Given the description of an element on the screen output the (x, y) to click on. 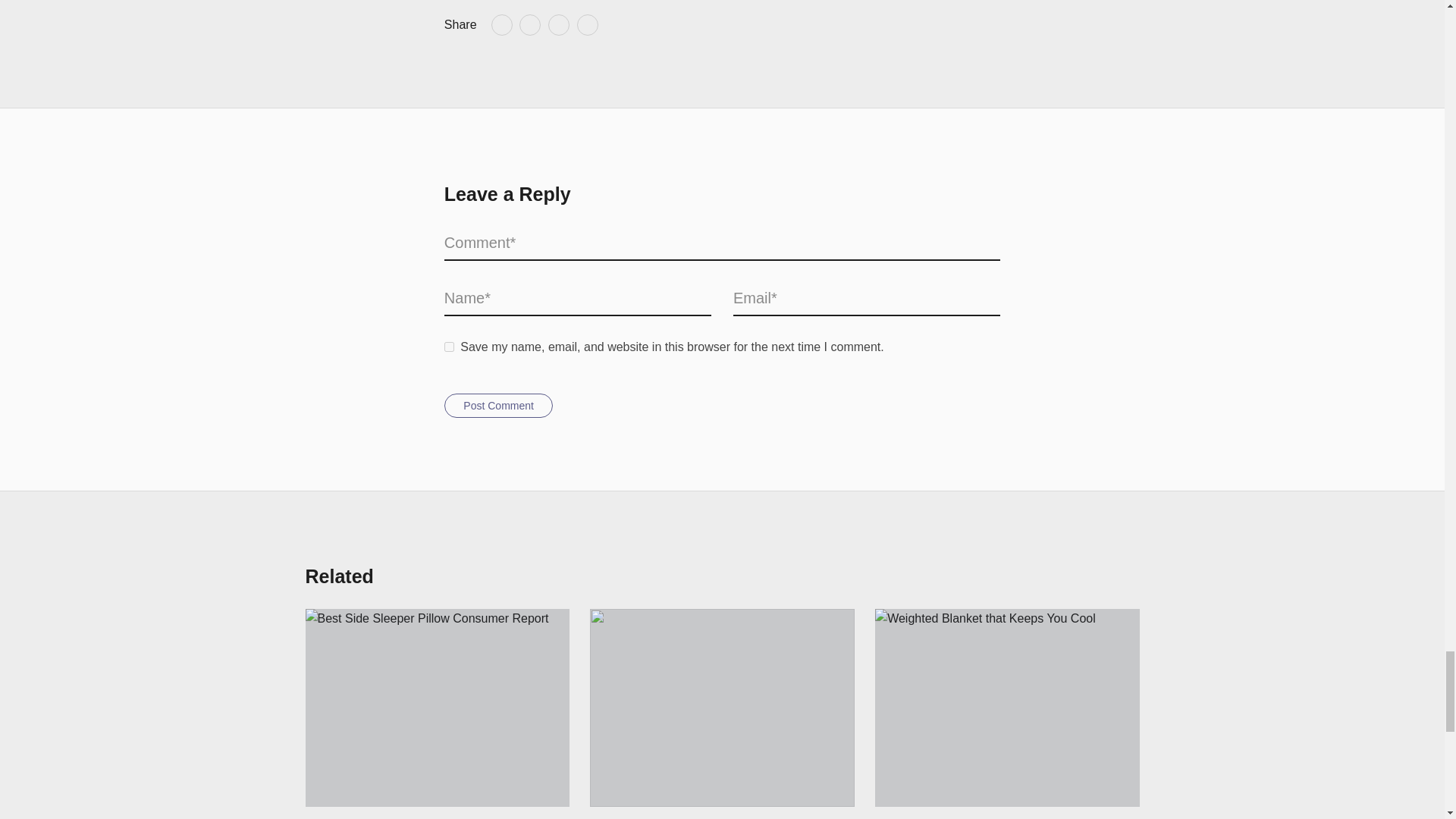
Pinterest (558, 25)
Twitter (529, 25)
Facebook (502, 25)
Pinterest (558, 25)
Email (586, 25)
yes (449, 347)
Post Comment (498, 405)
Twitter (529, 25)
Facebook (502, 25)
